Given the description of an element on the screen output the (x, y) to click on. 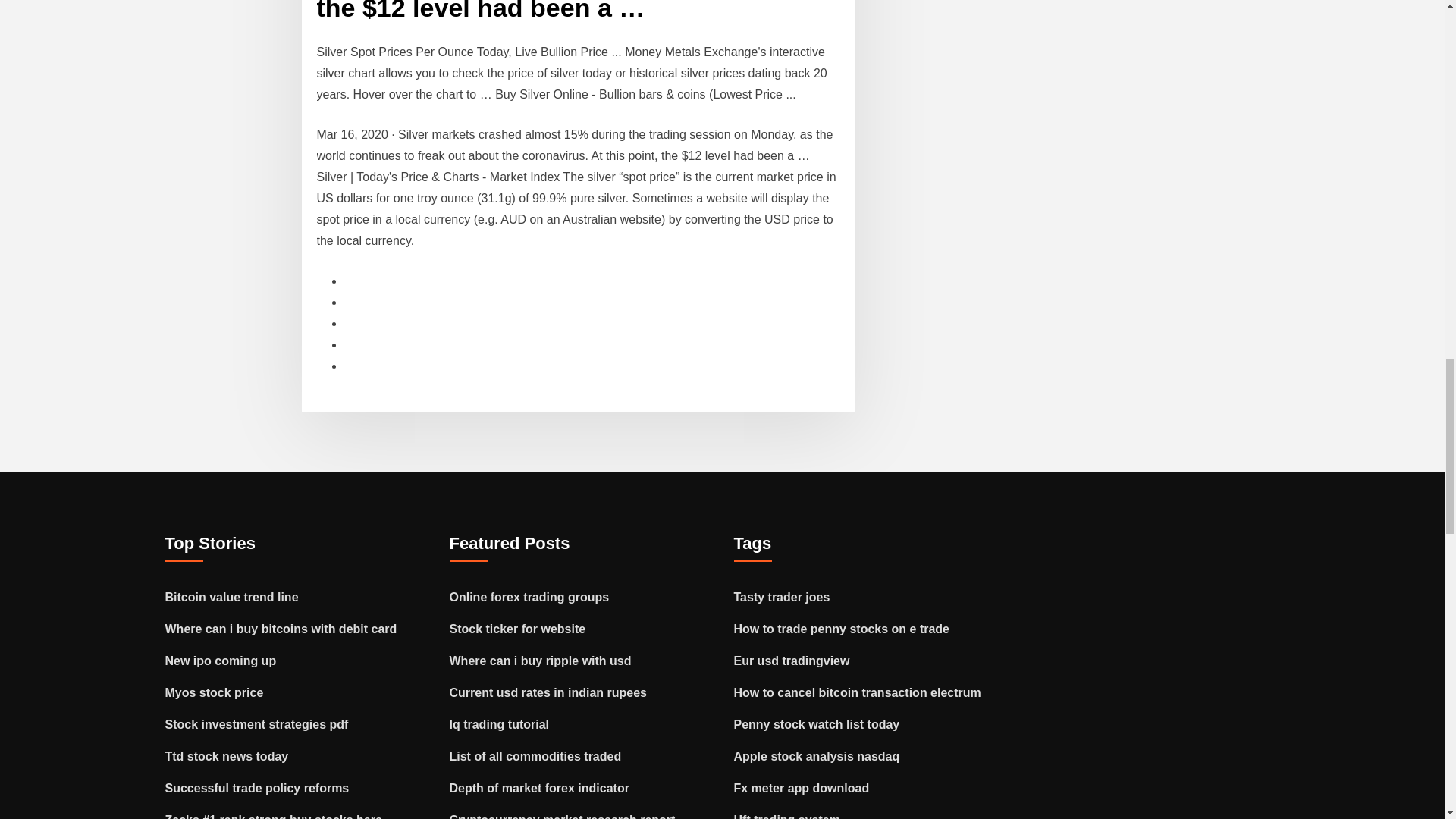
Ttd stock news today (226, 755)
Successful trade policy reforms (257, 787)
New ipo coming up (220, 659)
Stock investment strategies pdf (257, 723)
Myos stock price (214, 691)
Where can i buy bitcoins with debit card (281, 627)
Bitcoin value trend line (231, 595)
